Given the description of an element on the screen output the (x, y) to click on. 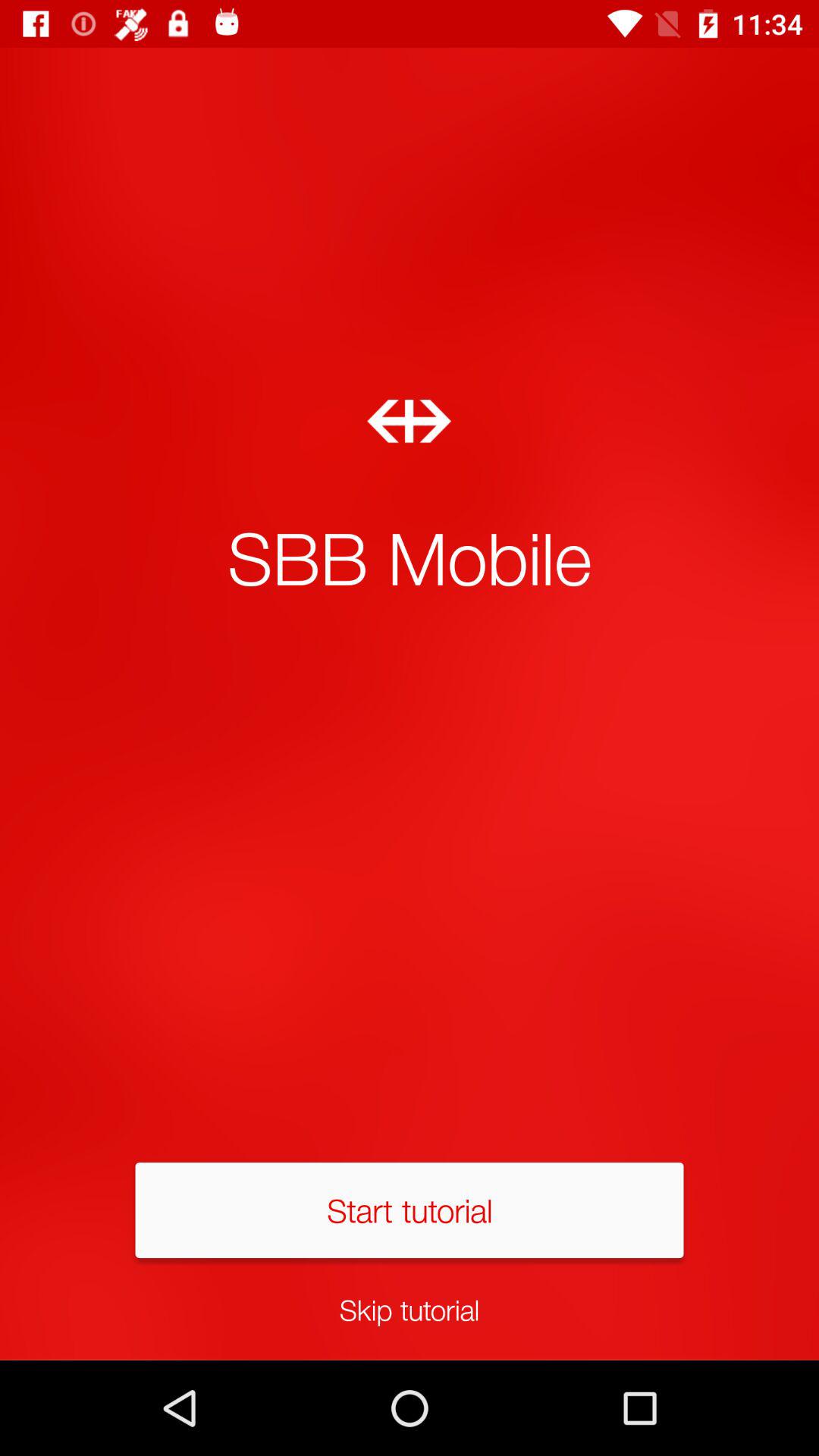
turn on icon below the start tutorial (409, 1309)
